Given the description of an element on the screen output the (x, y) to click on. 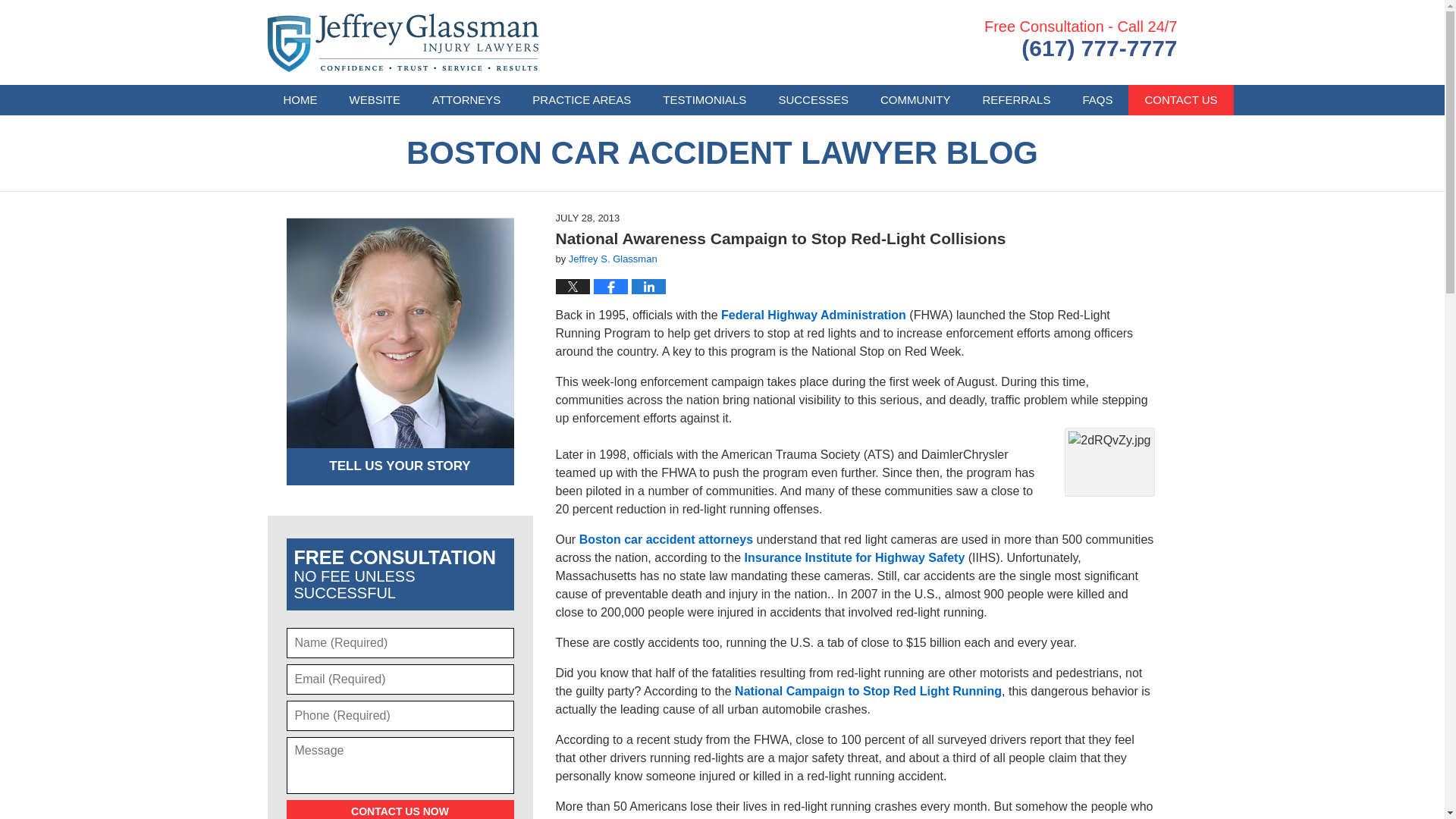
WEBSITE (374, 100)
Boston car accident attorneys (665, 539)
CONTACT US NOW (399, 809)
BOSTON CAR ACCIDENT LAWYER BLOG (722, 152)
National Campaign to Stop Red Light Running (868, 690)
TESTIMONIALS (703, 100)
Federal Highway Administration (812, 314)
HOME (299, 100)
Boston Car Accident Lawyer Blog (401, 42)
REFERRALS (1015, 100)
